Given the description of an element on the screen output the (x, y) to click on. 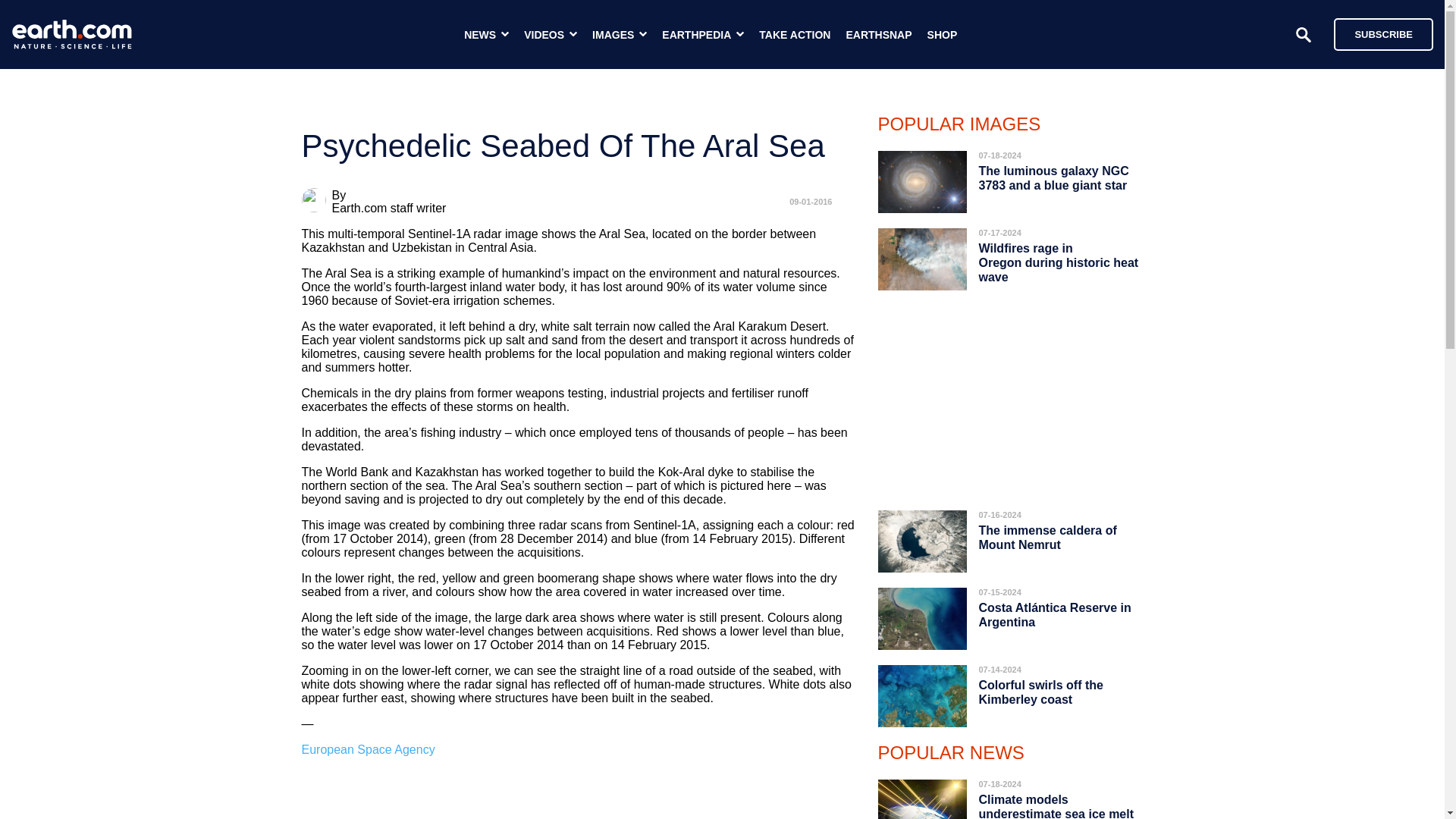
SUBSCRIBE (1382, 34)
EARTHSNAP (878, 34)
Colorful swirls off the Kimberley coast (1040, 691)
The immense caldera of Mount Nemrut  (1047, 537)
European Space Agency (368, 748)
Climate models underestimate sea ice melt and global warming (1056, 802)
The luminous galaxy NGC 3783 and a blue giant star (1053, 177)
Wildfires rage in Oregon during historic heat wave (1058, 262)
TAKE ACTION (793, 34)
SHOP (942, 34)
